Given the description of an element on the screen output the (x, y) to click on. 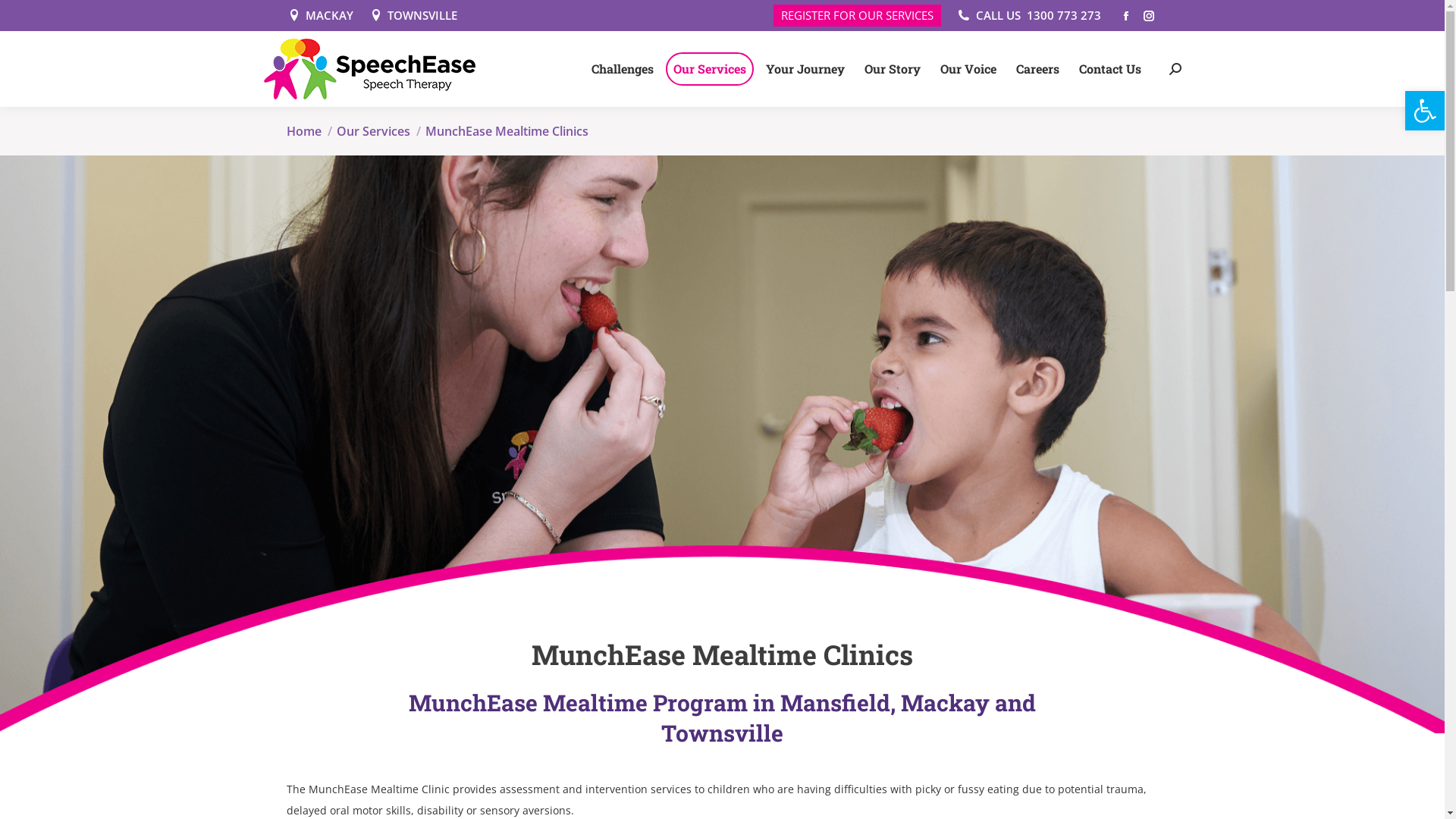
Open toolbar
Accessibility Tools Element type: text (1424, 110)
Home Element type: text (303, 130)
1300 773 273 Element type: text (1063, 15)
Careers Element type: text (1037, 68)
TOWNSVILLE Element type: text (412, 15)
Challenges Element type: text (622, 68)
Our Services Element type: text (709, 68)
Go! Element type: text (26, 17)
Facebook page opens in new window Element type: text (1125, 15)
Instagram page opens in new window Element type: text (1148, 15)
Our Services Element type: text (373, 130)
Go! Element type: text (748, 446)
MACKAY Element type: text (319, 15)
Our Story Element type: text (892, 68)
Contact Us Element type: text (1109, 68)
REGISTER FOR OUR SERVICES Element type: text (857, 15)
Your Journey Element type: text (805, 68)
Our Voice Element type: text (968, 68)
